Given the description of an element on the screen output the (x, y) to click on. 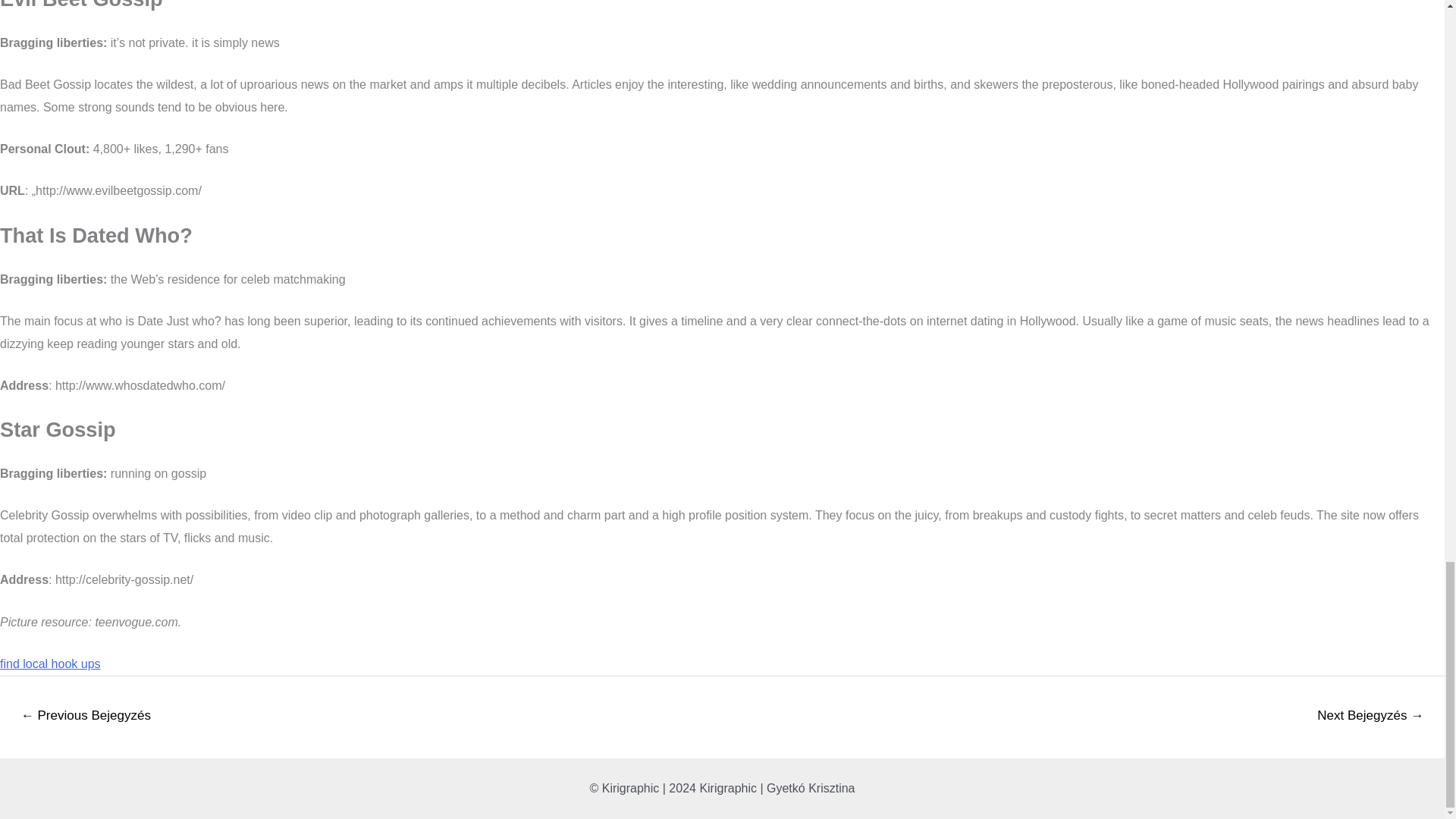
find local hook ups (50, 663)
